Given the description of an element on the screen output the (x, y) to click on. 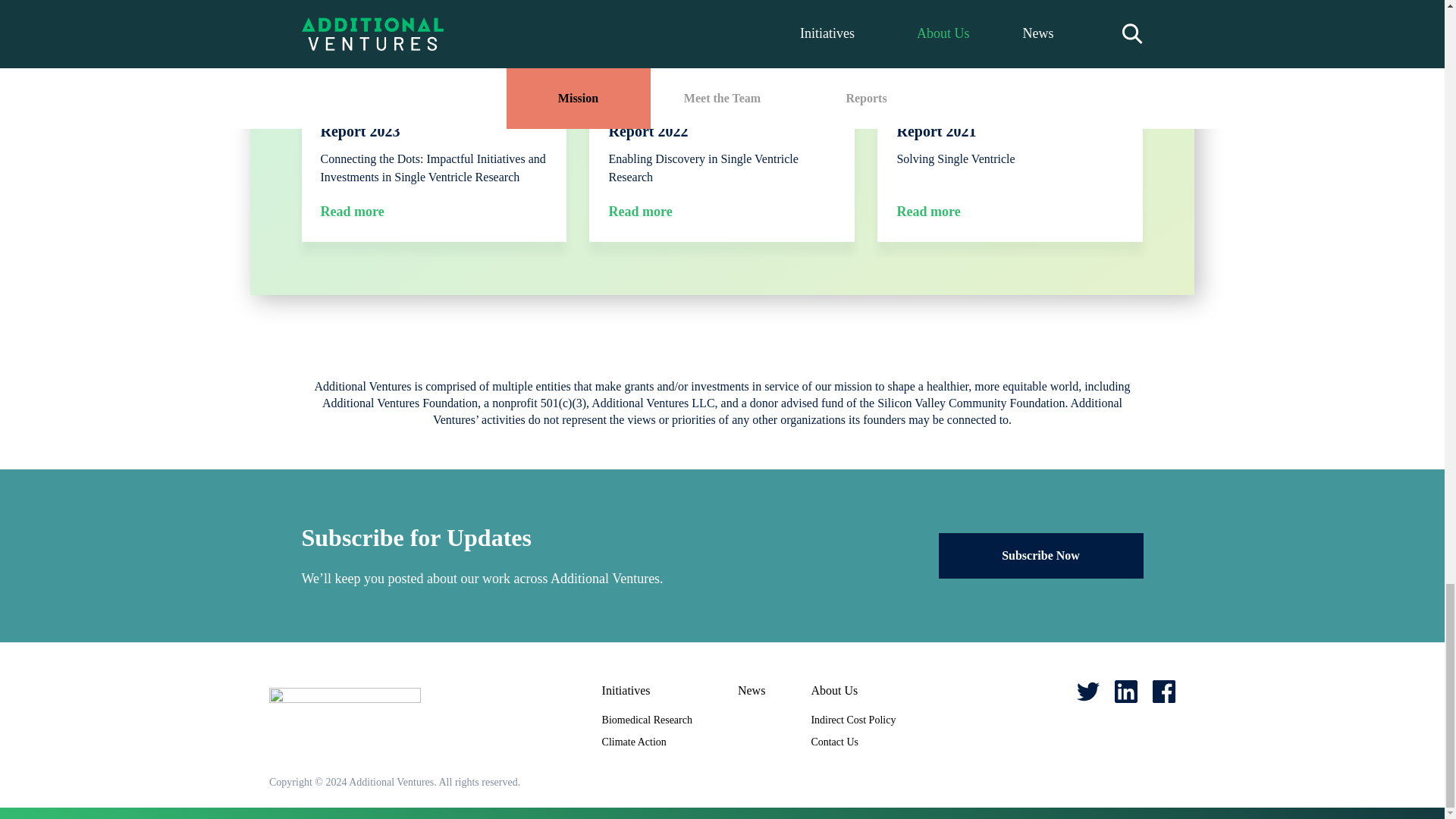
Biomedical Research (647, 719)
Climate Action (634, 741)
About Us (852, 690)
Indirect Cost Policy (852, 719)
Contact Us (834, 741)
Subscribe Now (1040, 555)
Initiatives (647, 690)
News (751, 690)
